Given the description of an element on the screen output the (x, y) to click on. 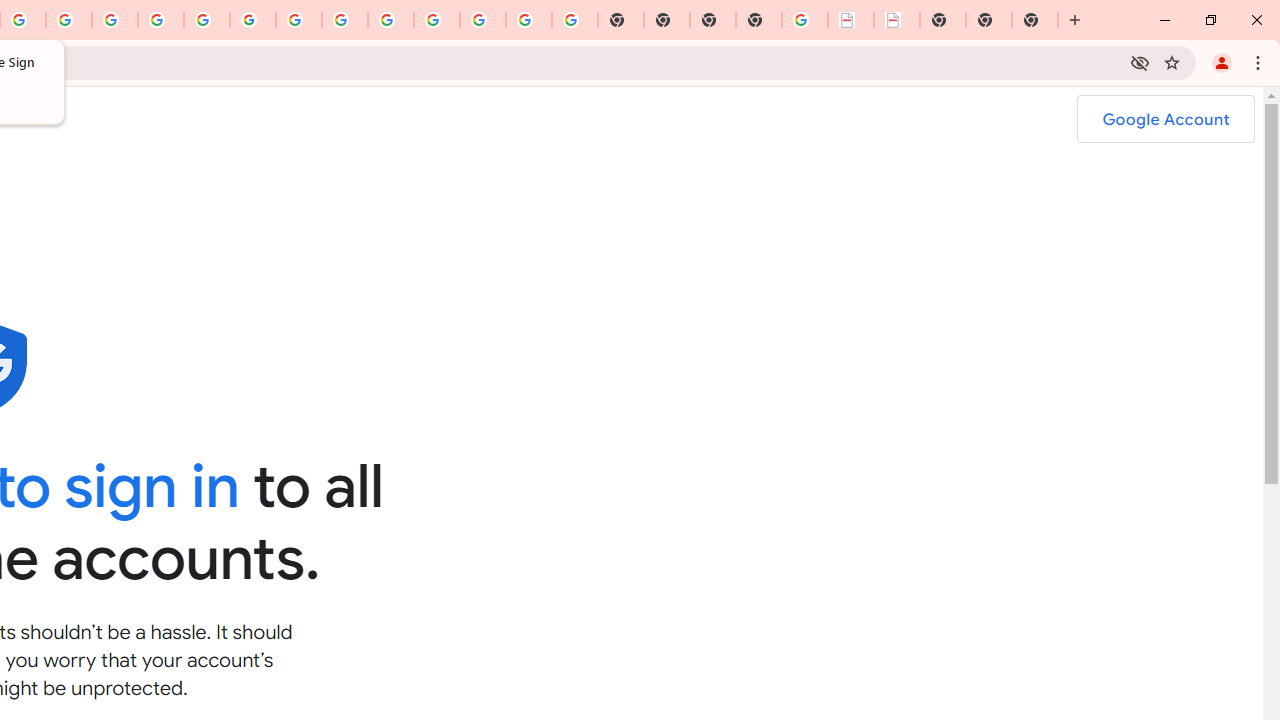
Google Images (574, 20)
BAE Systems Brasil | BAE Systems (897, 20)
Privacy Help Center - Policies Help (161, 20)
LAAD Defence & Security 2025 | BAE Systems (851, 20)
